Given the description of an element on the screen output the (x, y) to click on. 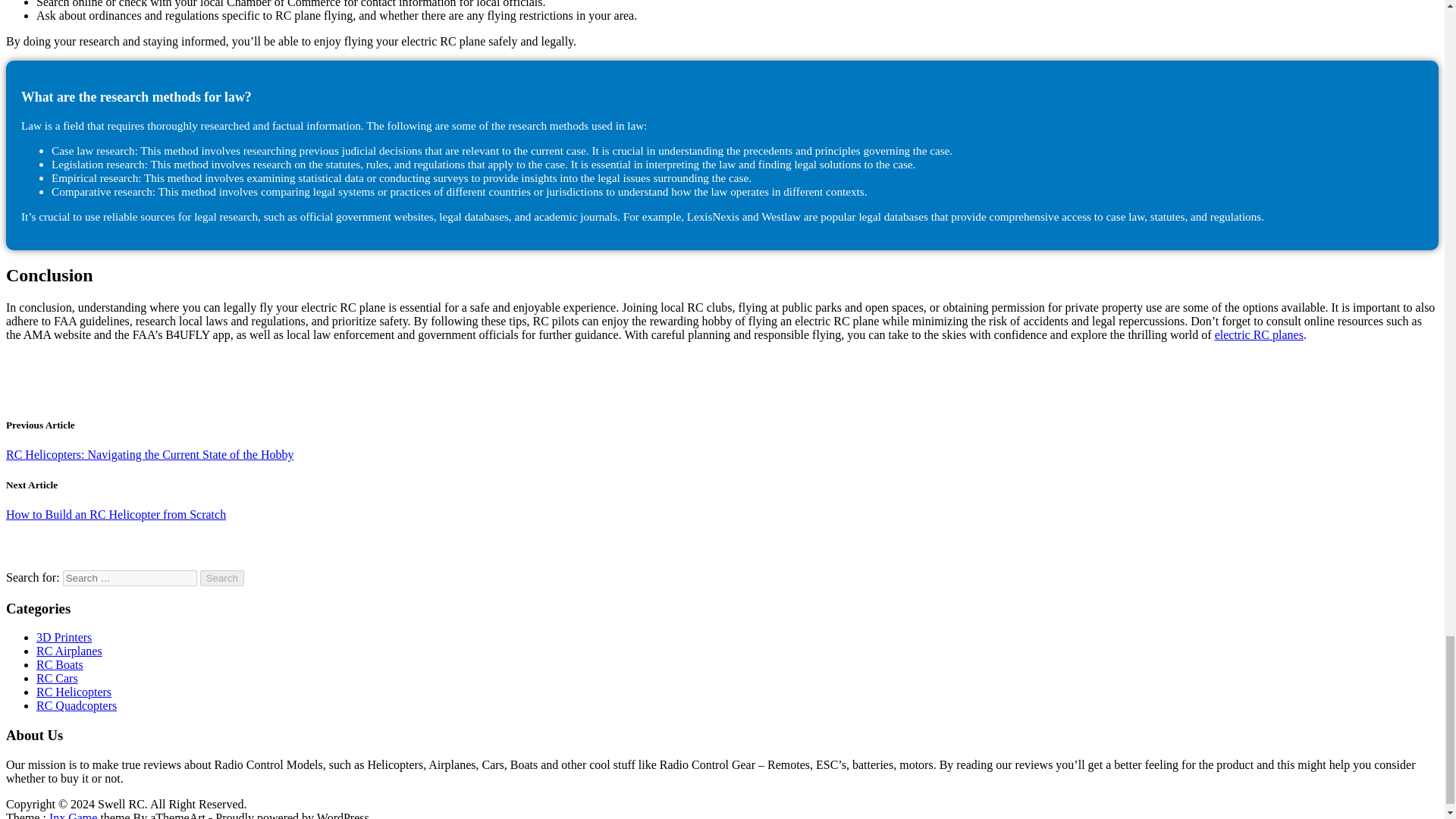
Search (222, 578)
RC Helicopters: Navigating the Current State of the Hobby (149, 454)
How to Build an RC Helicopter from Scratch (115, 513)
electric RC planes (1258, 334)
Search (222, 578)
RC Helicopters (74, 691)
RC Quadcopters (76, 705)
3D Printers (63, 636)
Search (222, 578)
RC Boats (59, 664)
RC Cars (57, 677)
RC Airplanes (68, 650)
